Given the description of an element on the screen output the (x, y) to click on. 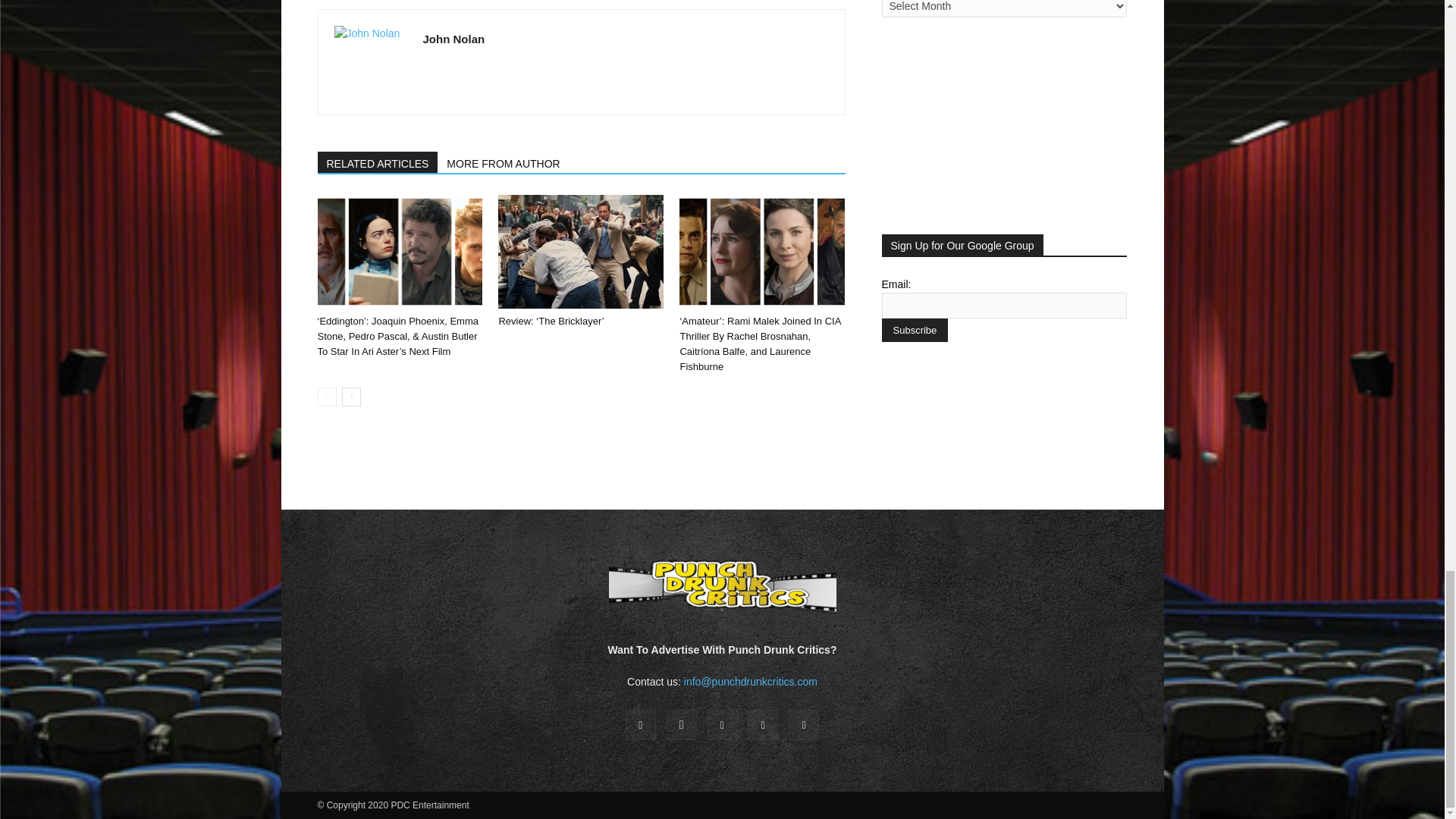
Subscribe (913, 330)
